Given the description of an element on the screen output the (x, y) to click on. 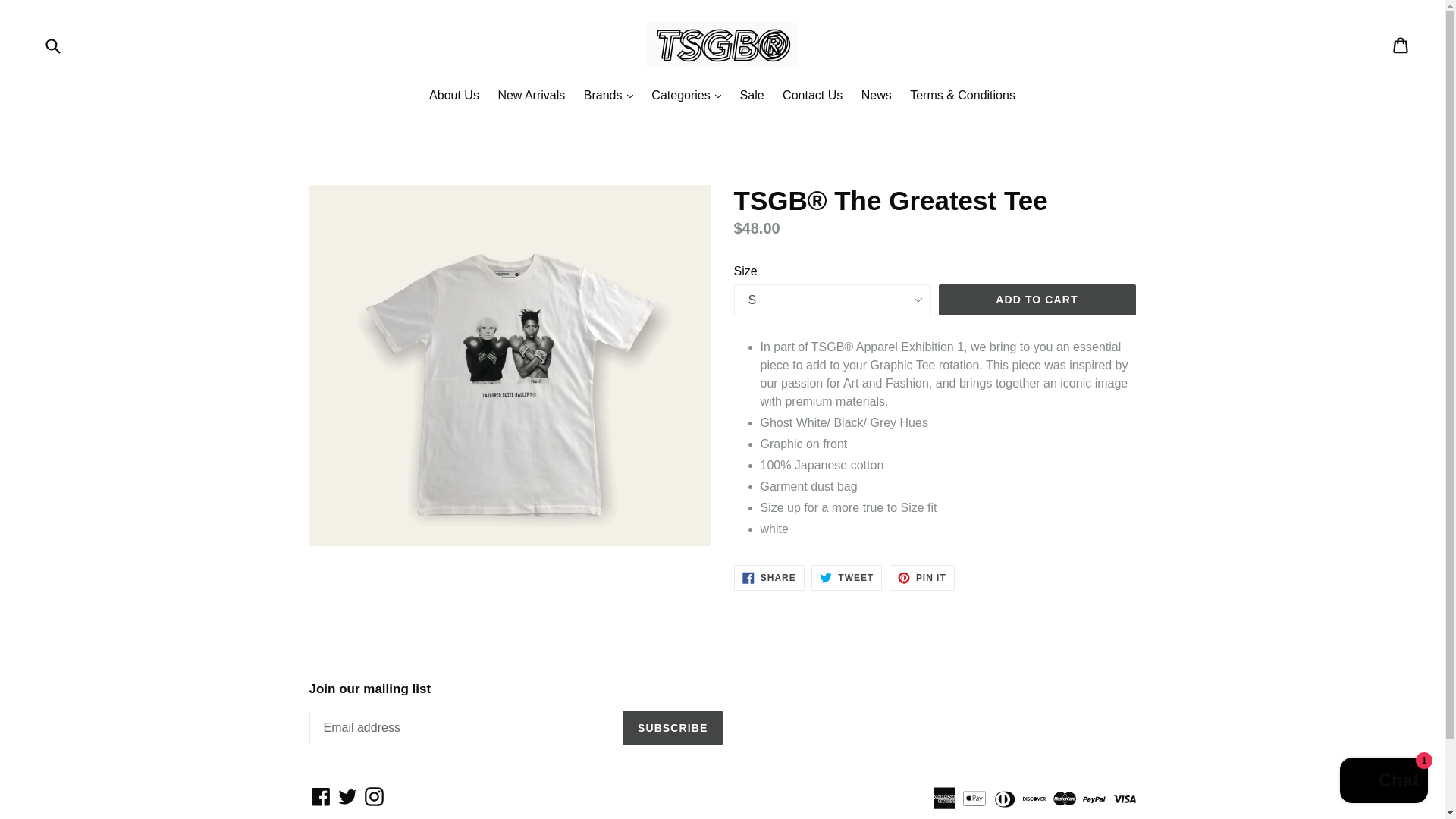
Tailored Suite Boutique on Twitter (347, 796)
Tailored Suite Boutique on Instagram (373, 796)
Shopify online store chat (1383, 781)
Tweet on Twitter (846, 577)
Tailored Suite Boutique on Facebook (320, 796)
Share on Facebook (769, 577)
Pin on Pinterest (922, 577)
About Us (454, 96)
